Given the description of an element on the screen output the (x, y) to click on. 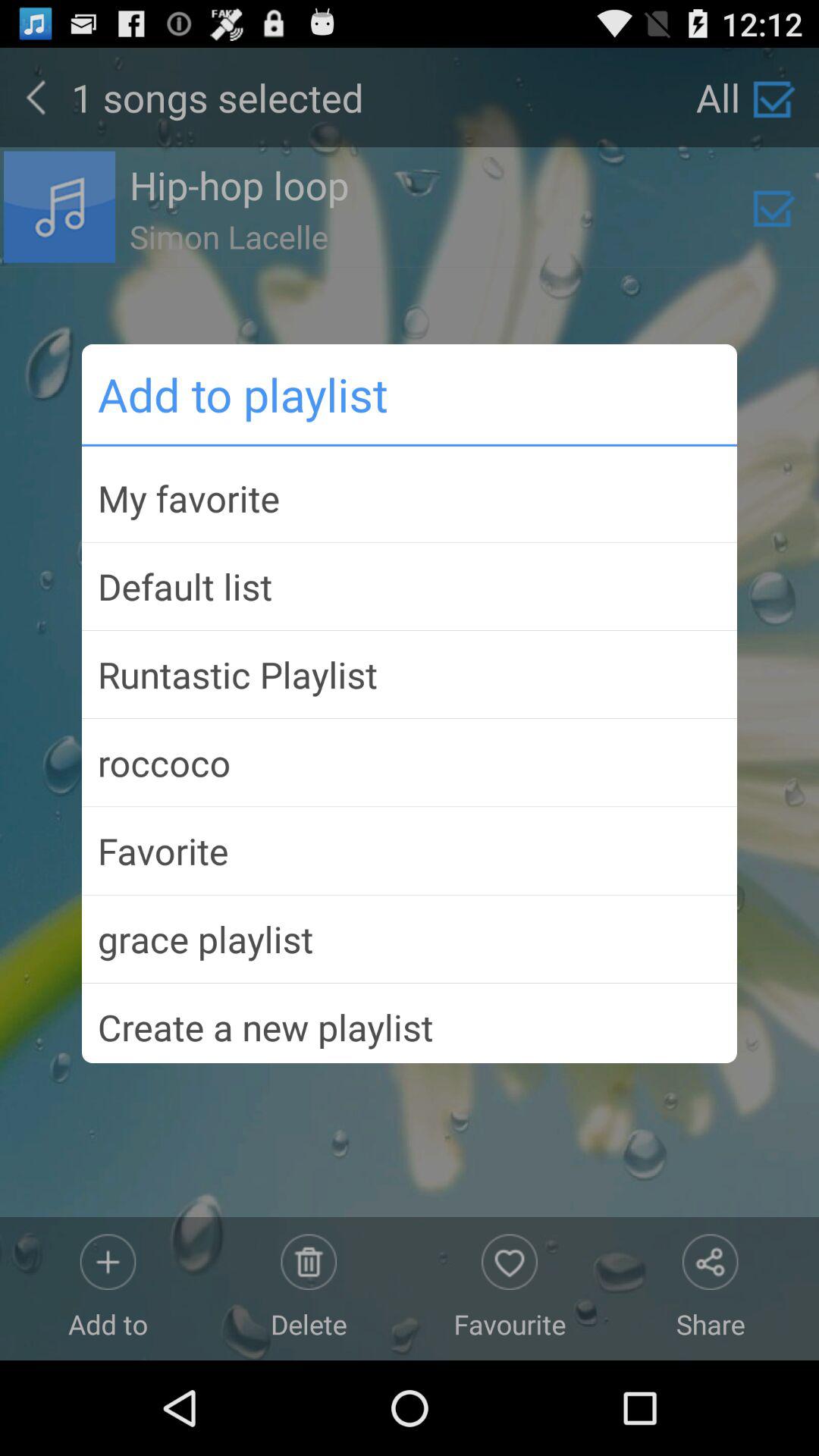
click the app below the default list icon (409, 674)
